Given the description of an element on the screen output the (x, y) to click on. 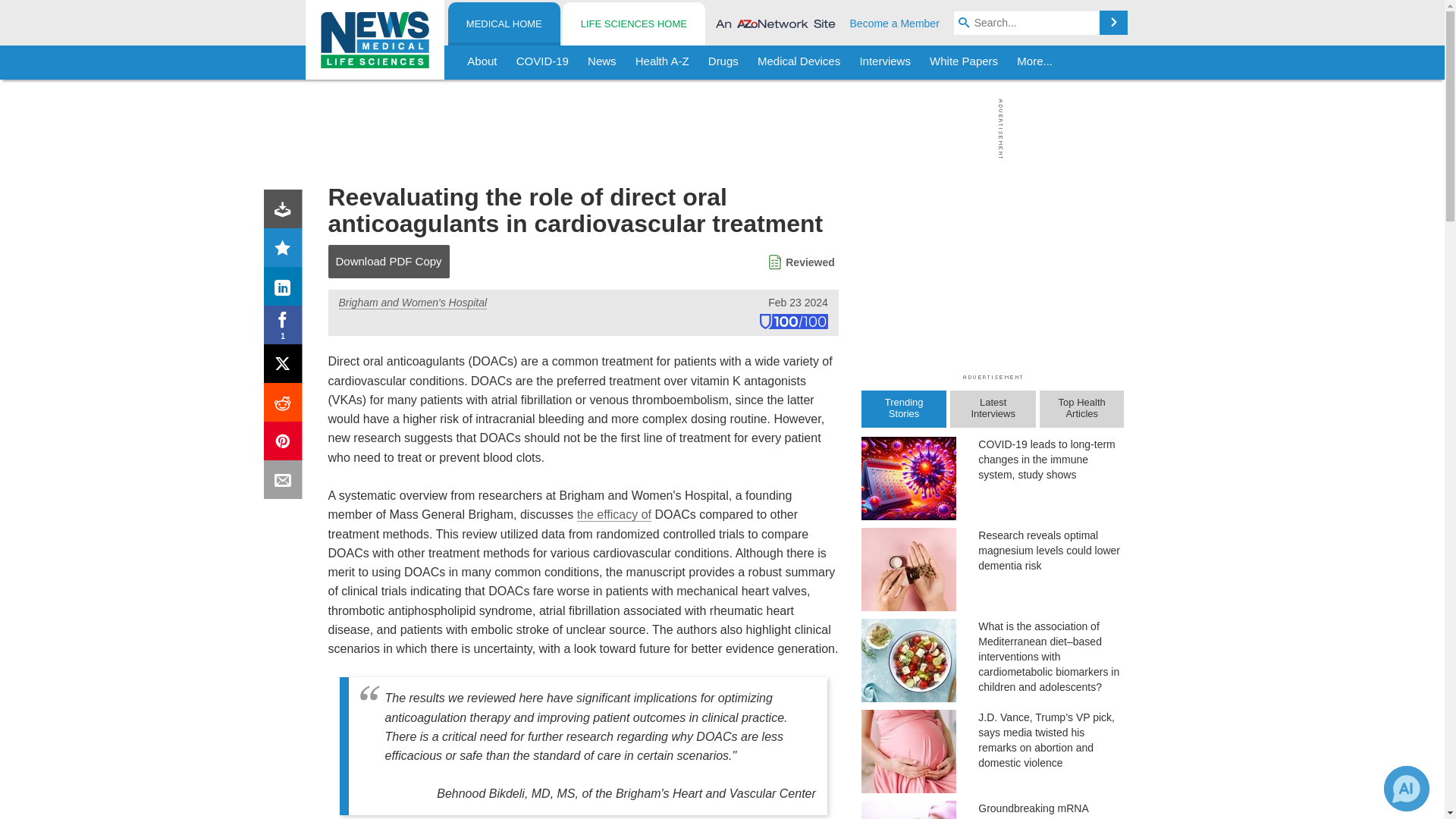
Reddit (285, 405)
Pinterest (285, 443)
LinkedIn (285, 289)
Rating (285, 250)
News (601, 62)
Download PDF copy (285, 212)
X (285, 366)
Health A-Z (662, 62)
More... (1035, 62)
Become a Member (894, 22)
Drugs (722, 62)
About (482, 62)
Medical Devices (798, 62)
Email (285, 483)
